Given the description of an element on the screen output the (x, y) to click on. 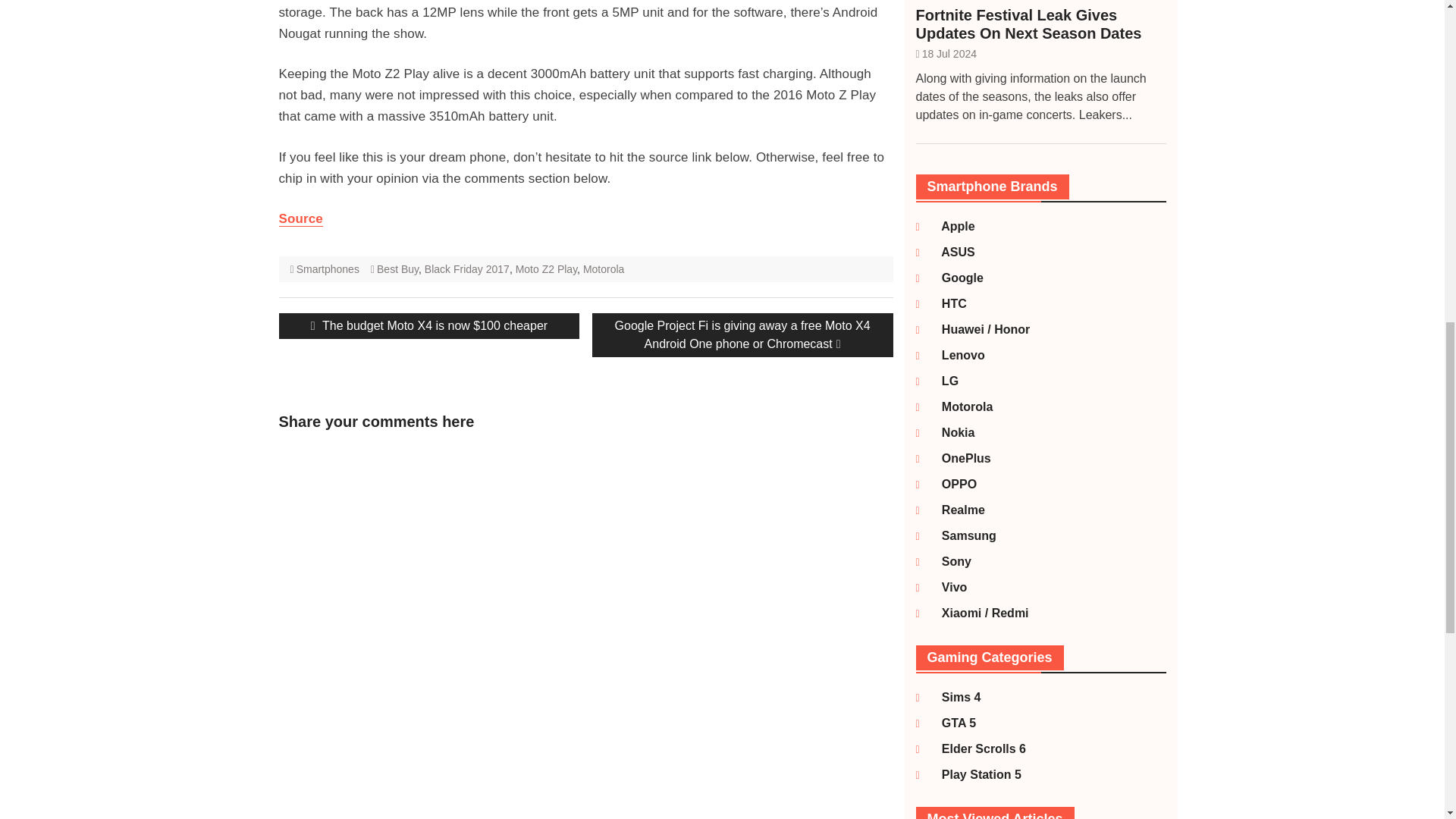
Moto Z2 Play (545, 268)
Black Friday 2017 (467, 268)
Source (301, 218)
Motorola (603, 268)
Fortnite Festival Leak Gives Updates On Next Season Dates (1040, 23)
Best Buy (398, 268)
Smartphones (328, 268)
     Apple (949, 226)
Comment Form (380, 607)
